Given the description of an element on the screen output the (x, y) to click on. 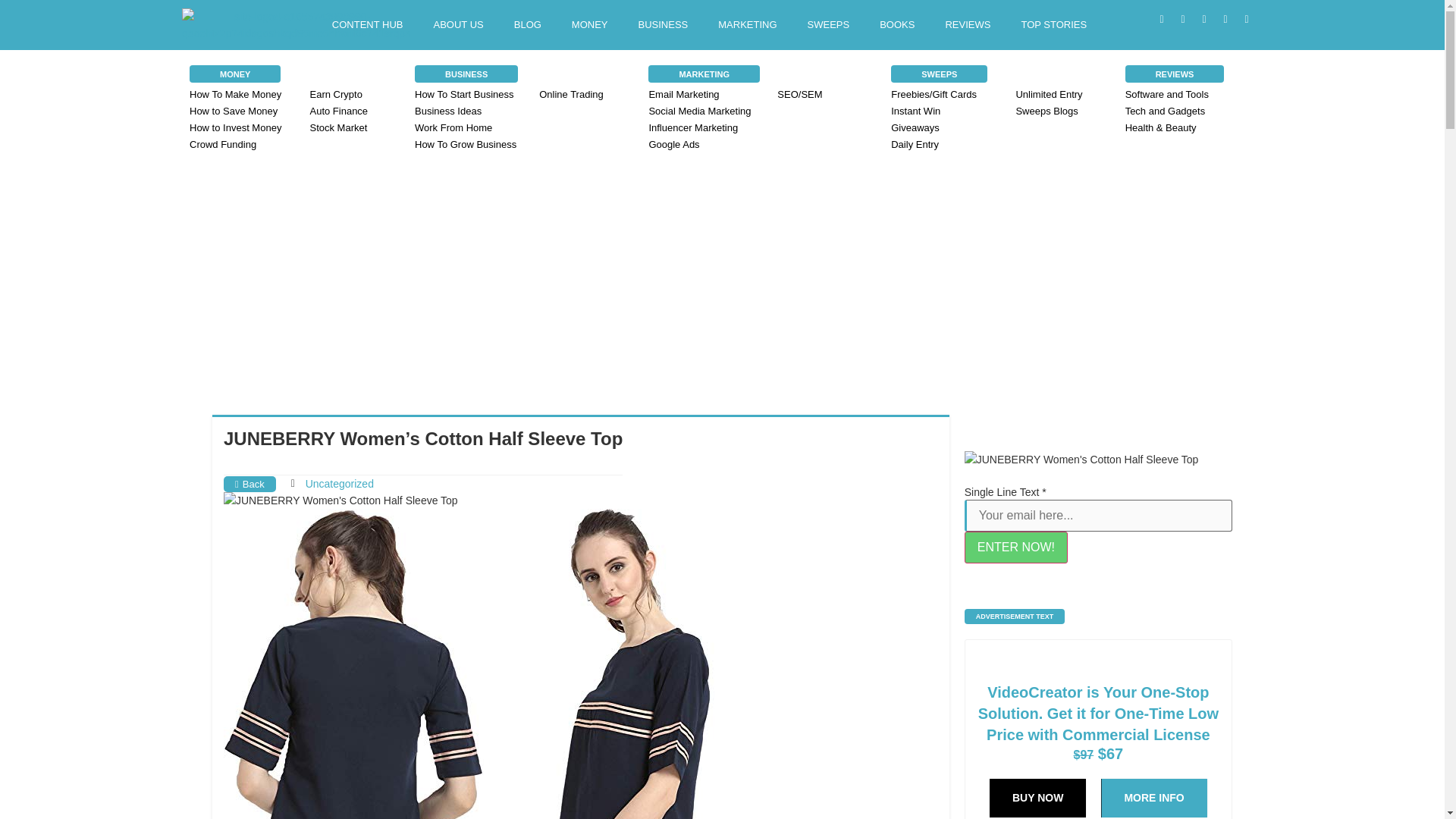
JUNEBERRY Women's Cotton Half Sleeve Top 4 (625, 663)
How To Grow Business (469, 144)
Online Trading (592, 94)
JUNEBERRY Women's Cotton Half Sleeve Top 1 (341, 500)
TOP STORIES (1054, 24)
Email Marketing (704, 94)
BOOKS (897, 24)
MARKETING (747, 24)
How to Save Money (242, 111)
